Given the description of an element on the screen output the (x, y) to click on. 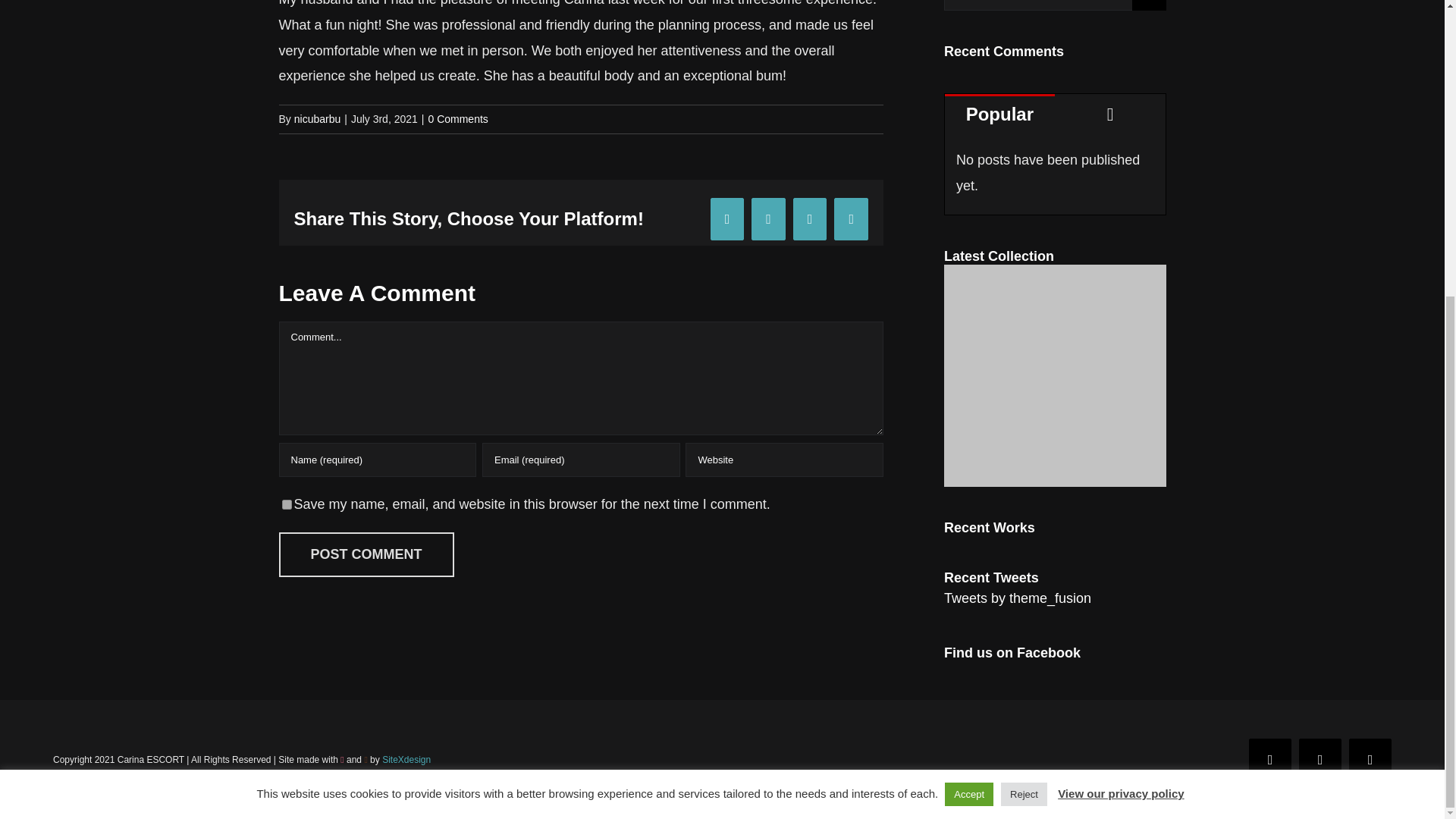
Post Comment (366, 554)
Facebook (1270, 759)
X (1319, 759)
Popular (999, 113)
X (1319, 759)
Accept (968, 337)
Instagram (1370, 759)
Post Comment (366, 554)
Website creation, optimization and maintenance (405, 759)
SiteXdesign (405, 759)
Posts by nicubarbu (317, 119)
Facebook (1270, 759)
0 Comments (457, 119)
yes (287, 504)
nicubarbu (317, 119)
